Given the description of an element on the screen output the (x, y) to click on. 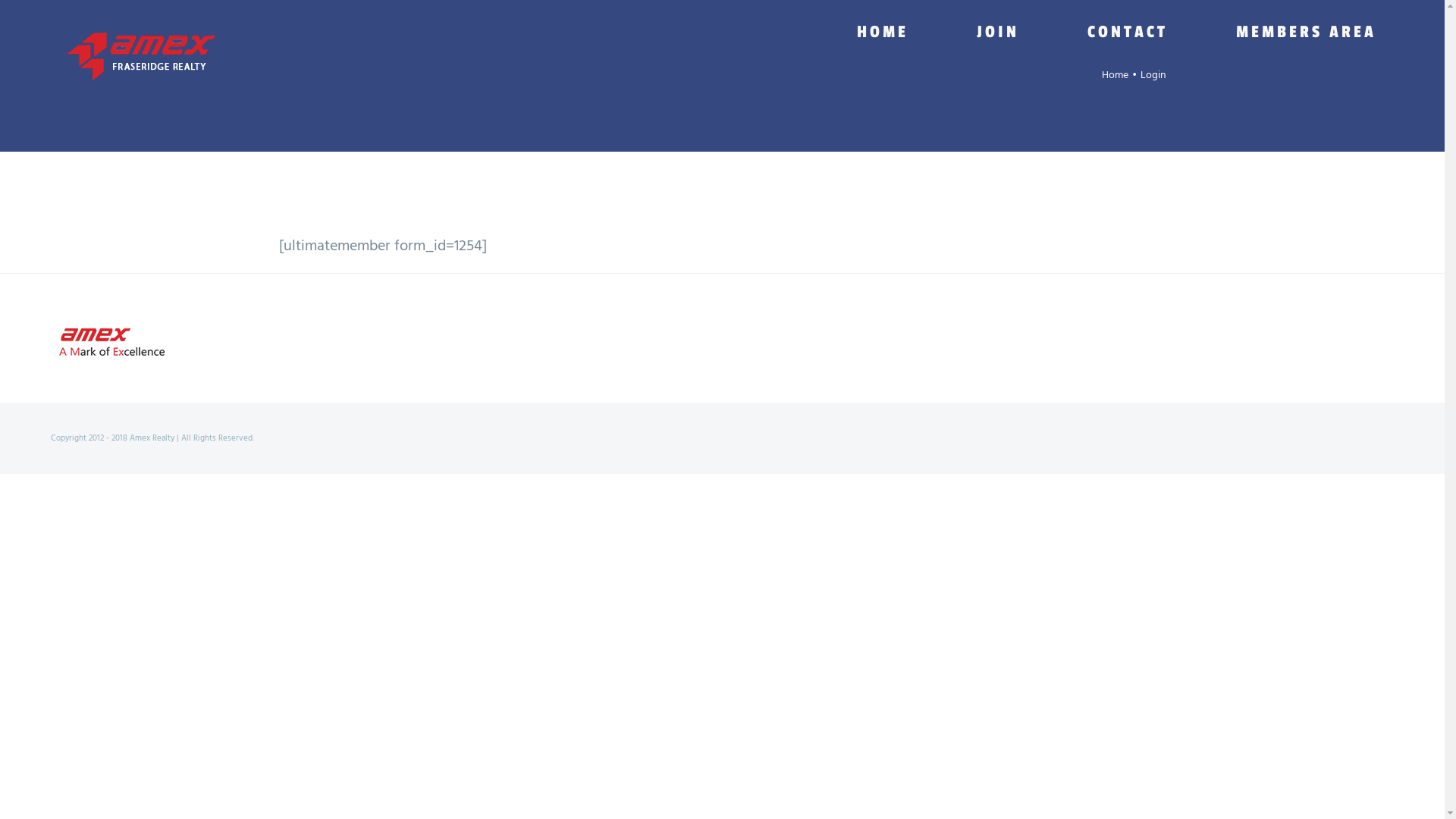
Home Element type: text (1114, 75)
CONTACT Element type: text (1127, 31)
JOIN Element type: text (997, 31)
HOME Element type: text (882, 31)
MEMBERS AREA Element type: text (1306, 31)
